Given the description of an element on the screen output the (x, y) to click on. 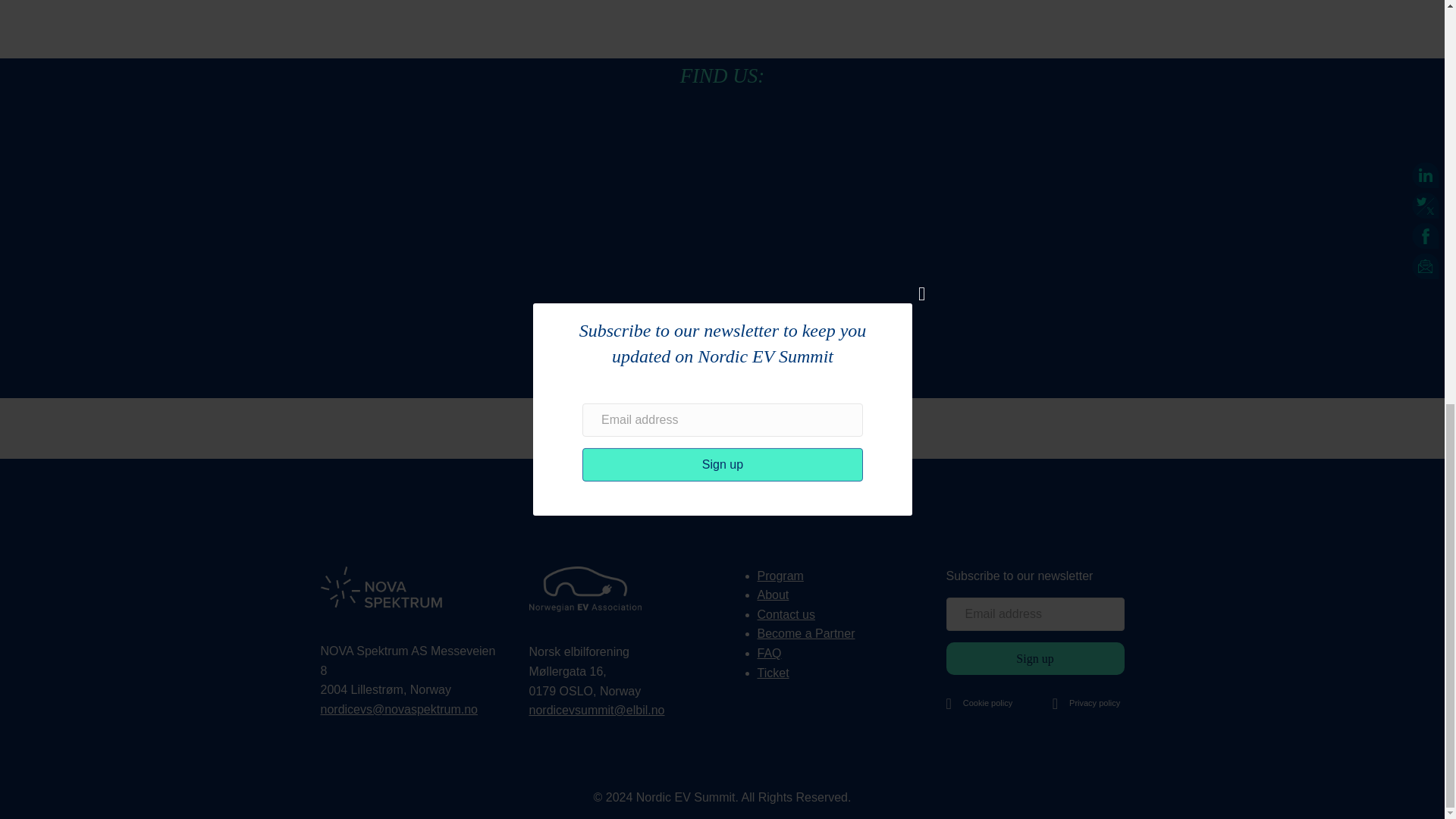
Privacy policy (1093, 702)
Cookie policy (986, 703)
Become a Partner (805, 633)
Contact us (785, 614)
FAQ (768, 653)
Program (780, 575)
Sign up (1035, 658)
About (773, 594)
Ticket (773, 672)
